Given the description of an element on the screen output the (x, y) to click on. 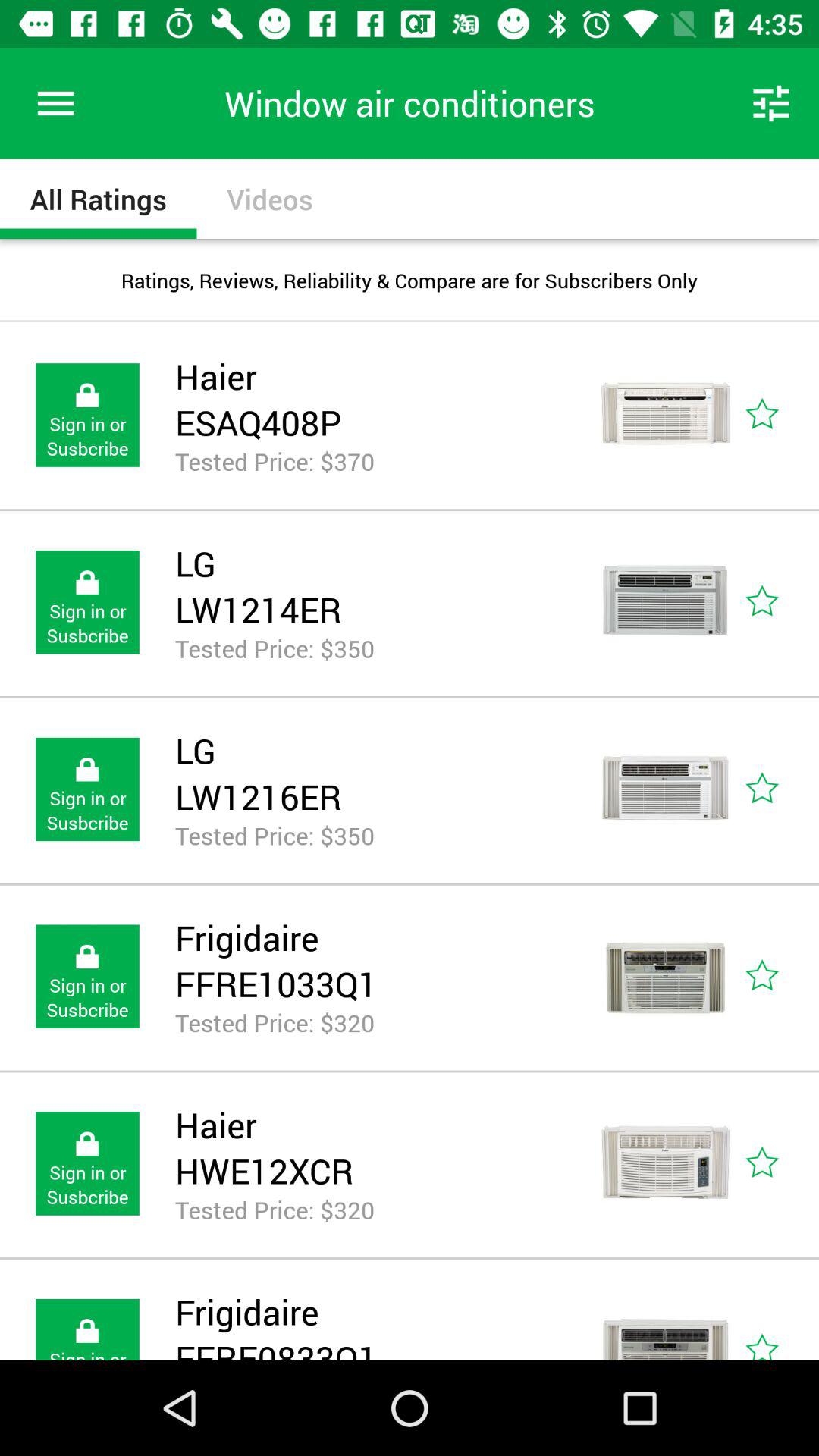
favorite this air conditioner (779, 789)
